Given the description of an element on the screen output the (x, y) to click on. 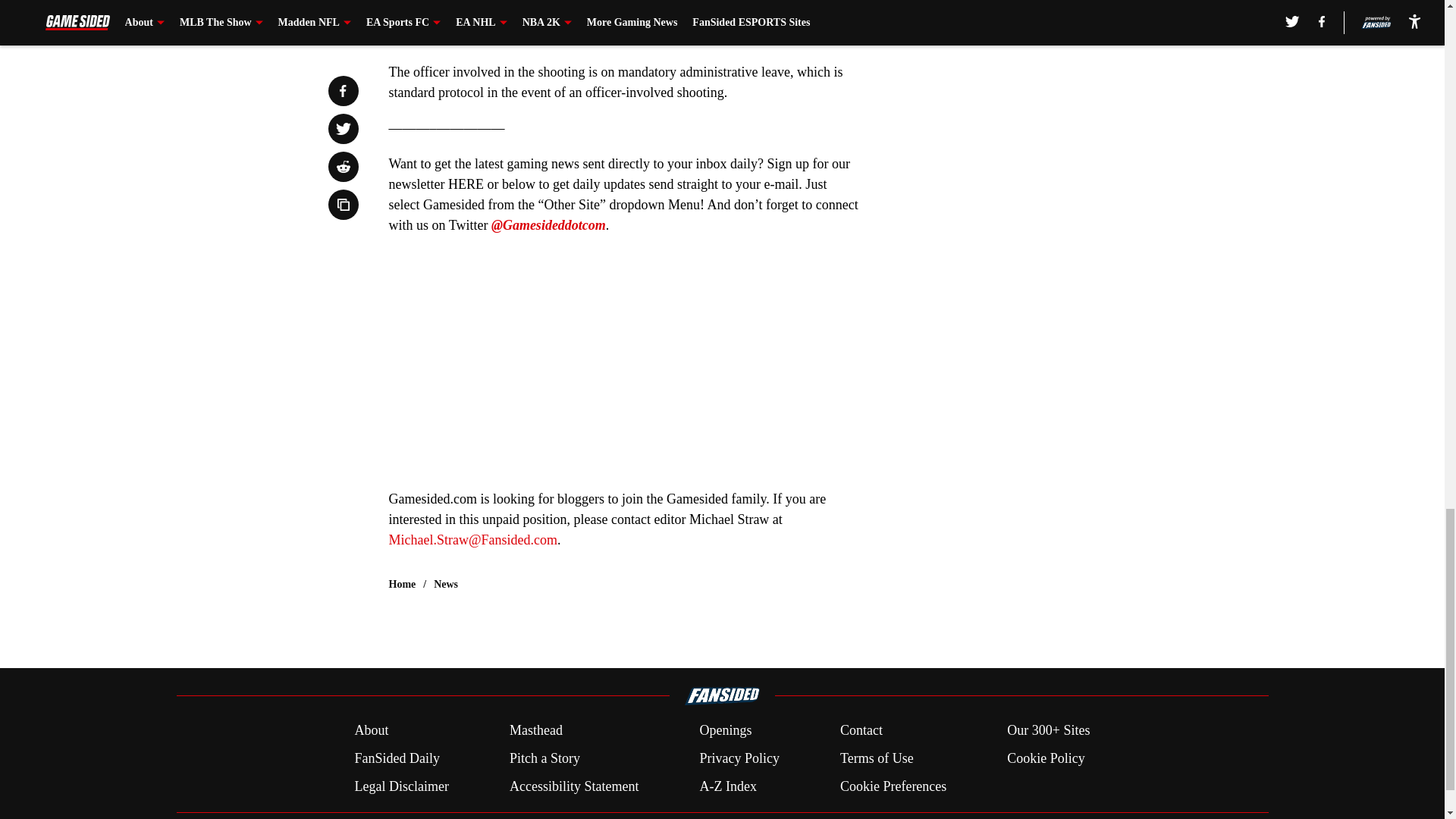
FanSided Daily (396, 758)
Cookie Policy (1045, 758)
Contact (861, 730)
Home (401, 584)
Terms of Use (877, 758)
Pitch a Story (544, 758)
About (370, 730)
Openings (724, 730)
News (445, 584)
Privacy Policy (738, 758)
Masthead (535, 730)
